Given the description of an element on the screen output the (x, y) to click on. 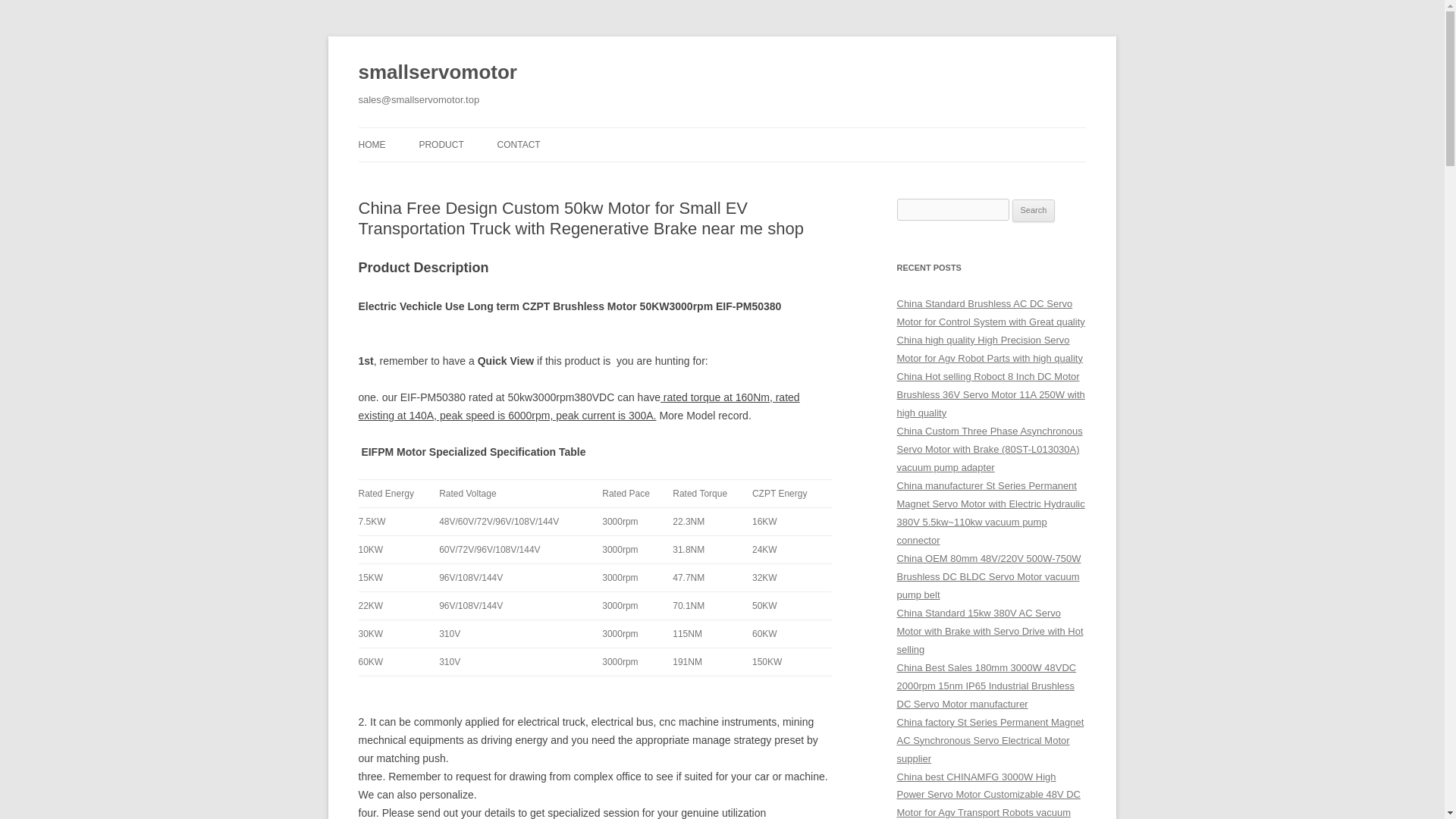
Search (1033, 210)
smallservomotor (437, 72)
PRODUCT (441, 144)
CONTACT (518, 144)
smallservomotor (437, 72)
Search (1033, 210)
HOME (371, 144)
